Given the description of an element on the screen output the (x, y) to click on. 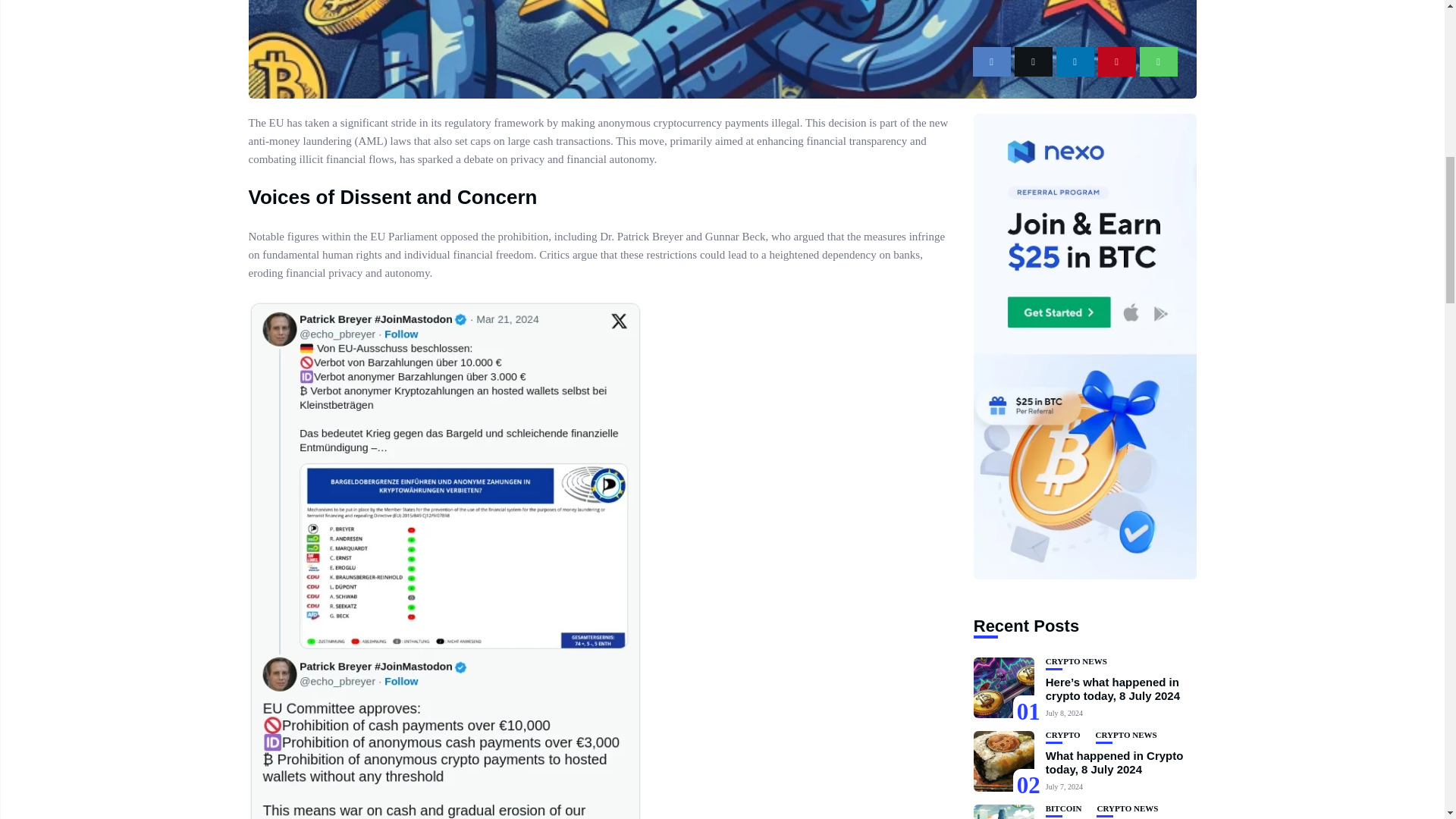
facebook (991, 61)
